Given the description of an element on the screen output the (x, y) to click on. 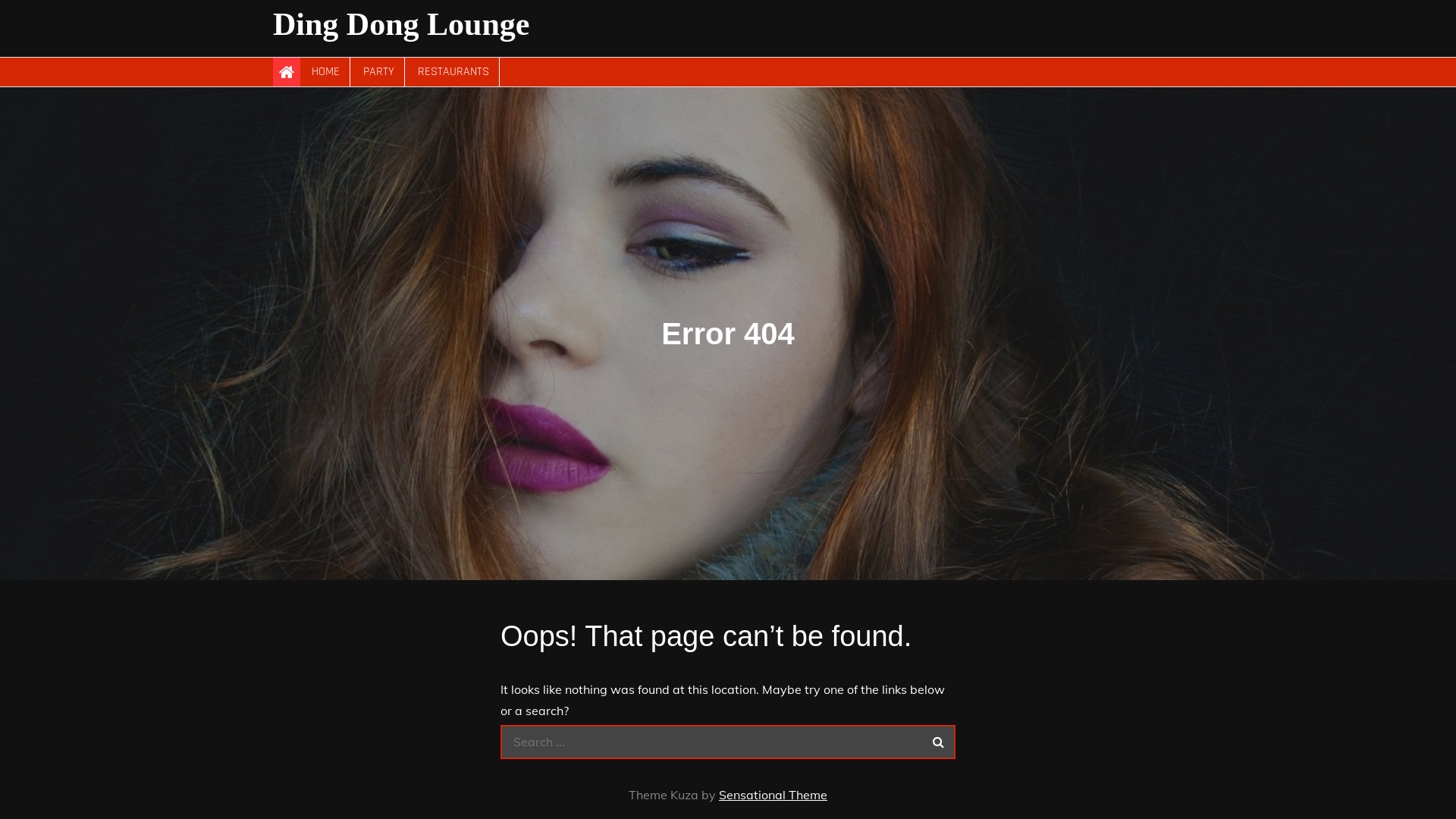
Search for: Element type: hover (727, 741)
Sensational Theme Element type: text (772, 794)
RESTAURANTS Element type: text (453, 71)
HOME Element type: text (325, 71)
Ding Dong Lounge Element type: text (401, 23)
Search Element type: text (938, 741)
PARTY Element type: text (378, 71)
